Given the description of an element on the screen output the (x, y) to click on. 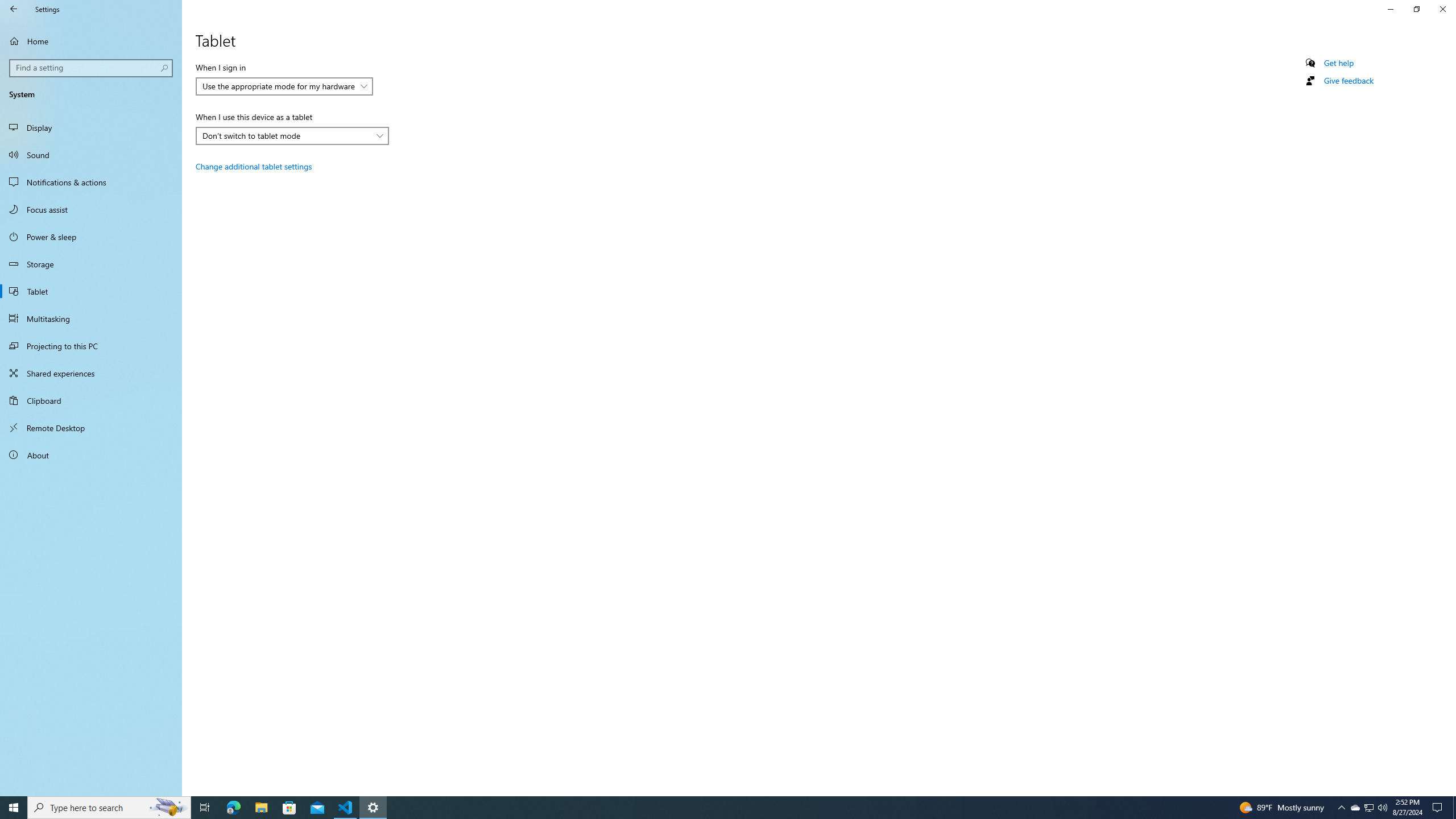
File Explorer (261, 807)
Focus assist (91, 208)
Clipboard (91, 400)
User Promoted Notification Area (1368, 807)
Start (13, 807)
Action Center, No new notifications (1439, 807)
Q2790: 100% (1382, 807)
Back (13, 9)
Type here to search (108, 807)
Microsoft Store (289, 807)
Search highlights icon opens search home window (167, 807)
Display (91, 126)
Close Settings (1442, 9)
